Given the description of an element on the screen output the (x, y) to click on. 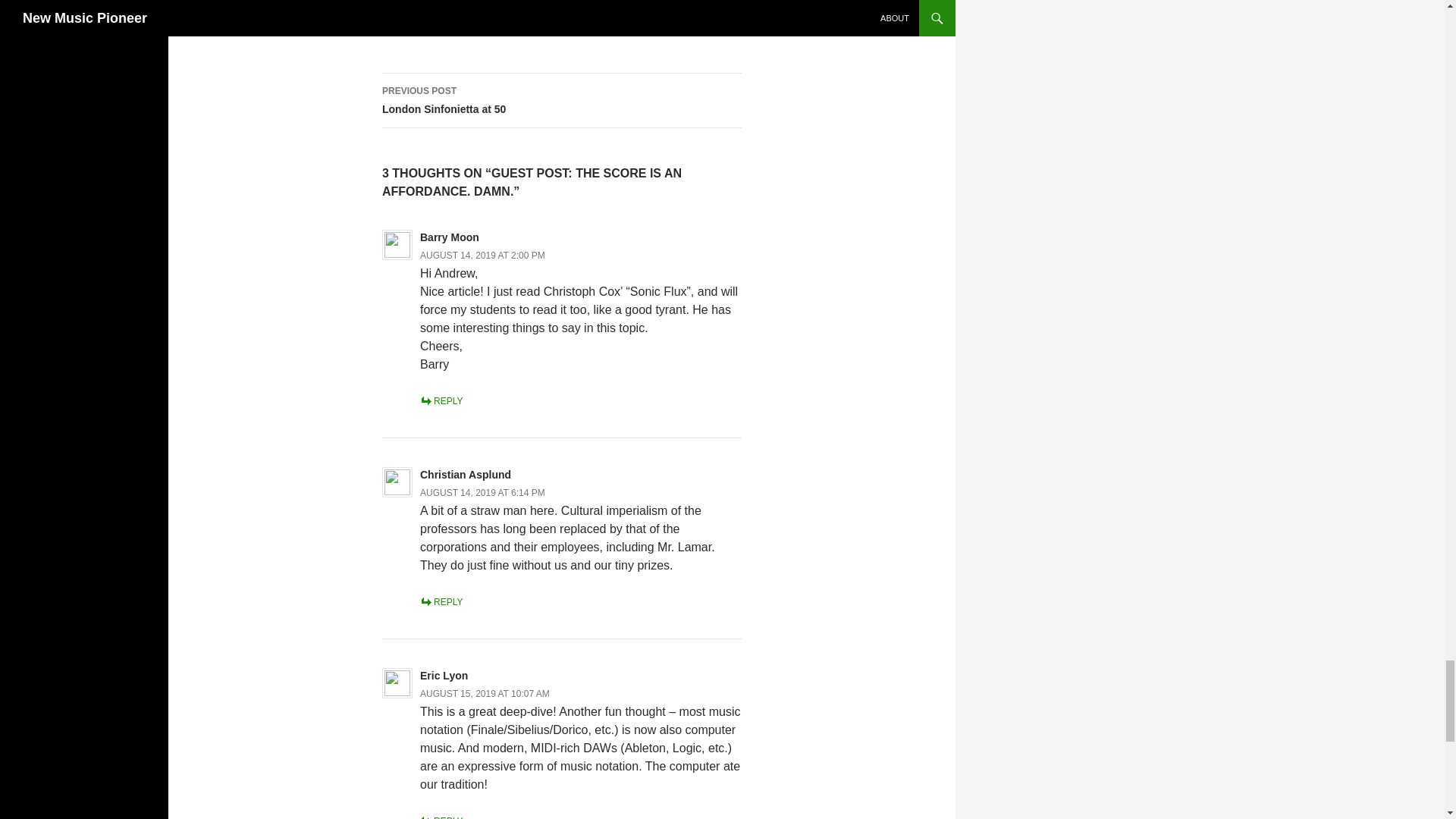
REPLY (441, 602)
Barry Moon (449, 236)
AUGUST 14, 2019 AT 6:14 PM (482, 492)
AUGUST 15, 2019 AT 10:07 AM (485, 693)
REPLY (441, 400)
REPLY (441, 817)
Christian Asplund (465, 474)
AUGUST 14, 2019 AT 2:00 PM (561, 100)
